Given the description of an element on the screen output the (x, y) to click on. 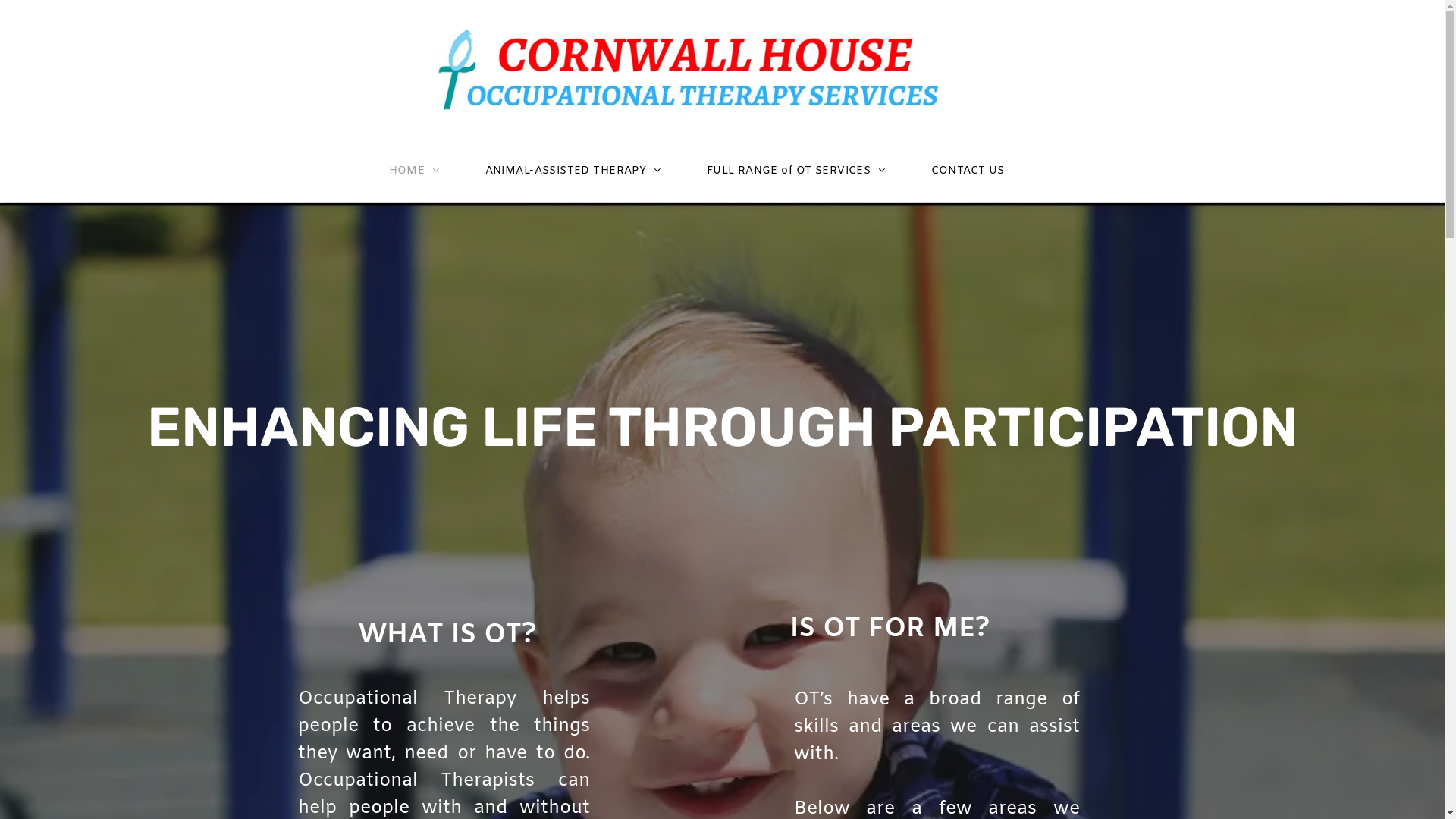
FULL RANGE of OT SERVICES Element type: text (796, 170)
ANIMAL-ASSISTED THERAPY Element type: text (573, 170)
HOME Element type: text (413, 170)
CONTACT US Element type: text (967, 170)
